Given the description of an element on the screen output the (x, y) to click on. 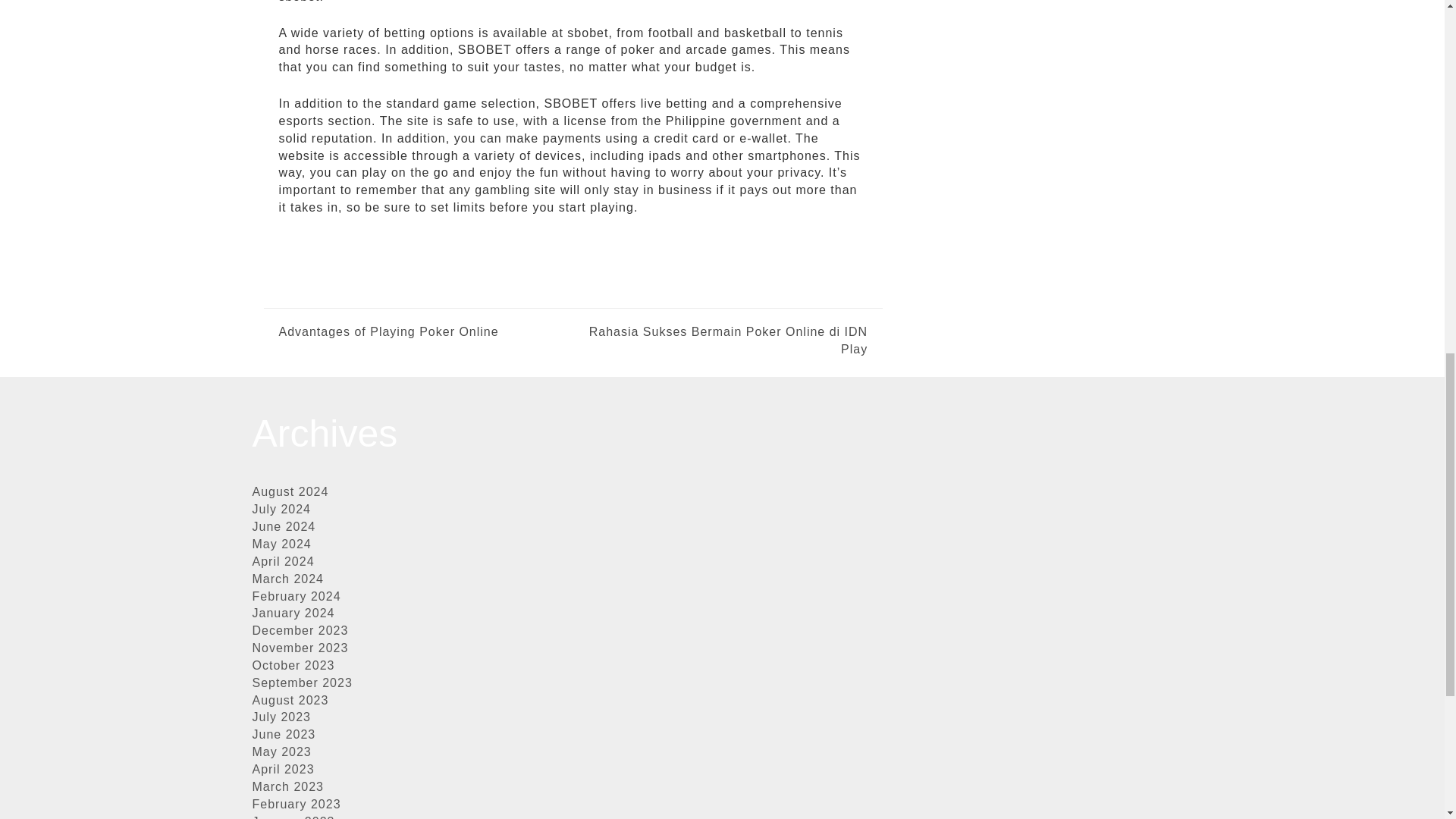
July 2023 (281, 716)
November 2023 (299, 647)
June 2024 (283, 526)
February 2024 (295, 595)
May 2024 (281, 543)
October 2023 (292, 665)
September 2023 (301, 682)
Rahasia Sukses Bermain Poker Online di IDN Play (720, 340)
April 2023 (282, 768)
August 2024 (290, 491)
